Given the description of an element on the screen output the (x, y) to click on. 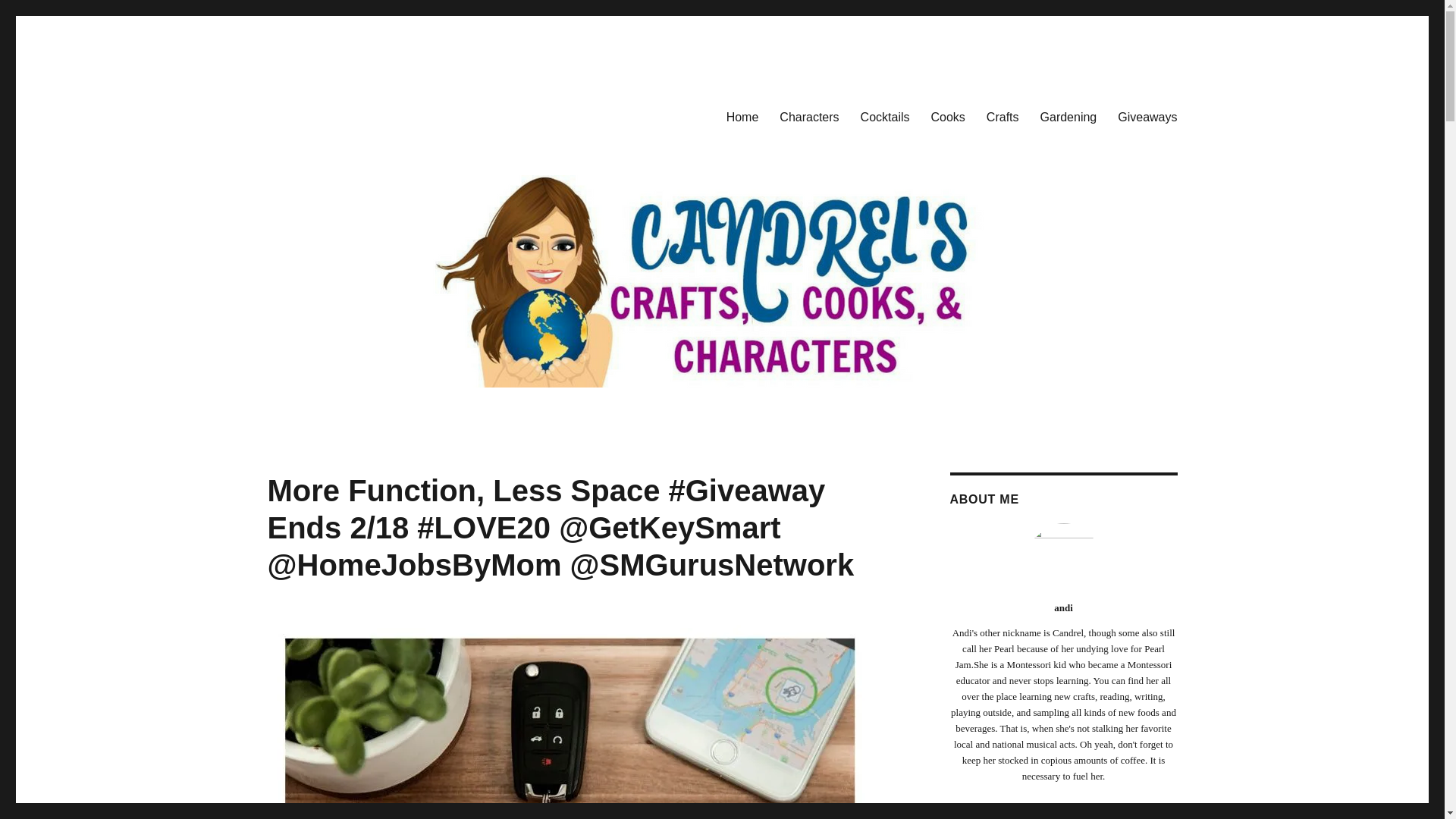
Home (743, 116)
Cooks (947, 116)
Gardening (1068, 116)
Cocktails (885, 116)
Crafts (1002, 116)
Characters (808, 116)
Giveaways (1147, 116)
